Given the description of an element on the screen output the (x, y) to click on. 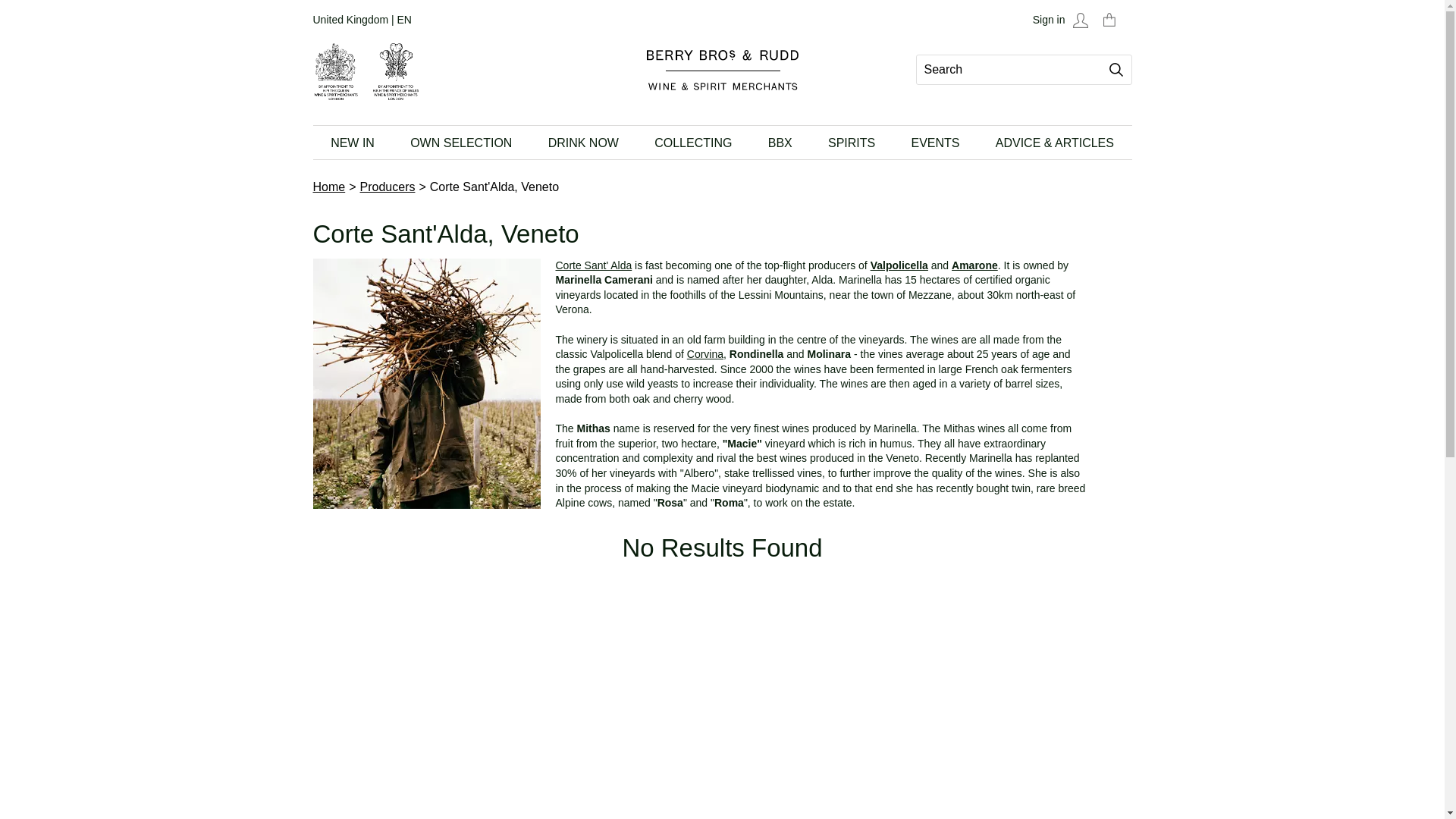
Sign in (1063, 19)
OWN SELECTION (461, 143)
NEW IN (352, 143)
NEW IN (352, 143)
